Given the description of an element on the screen output the (x, y) to click on. 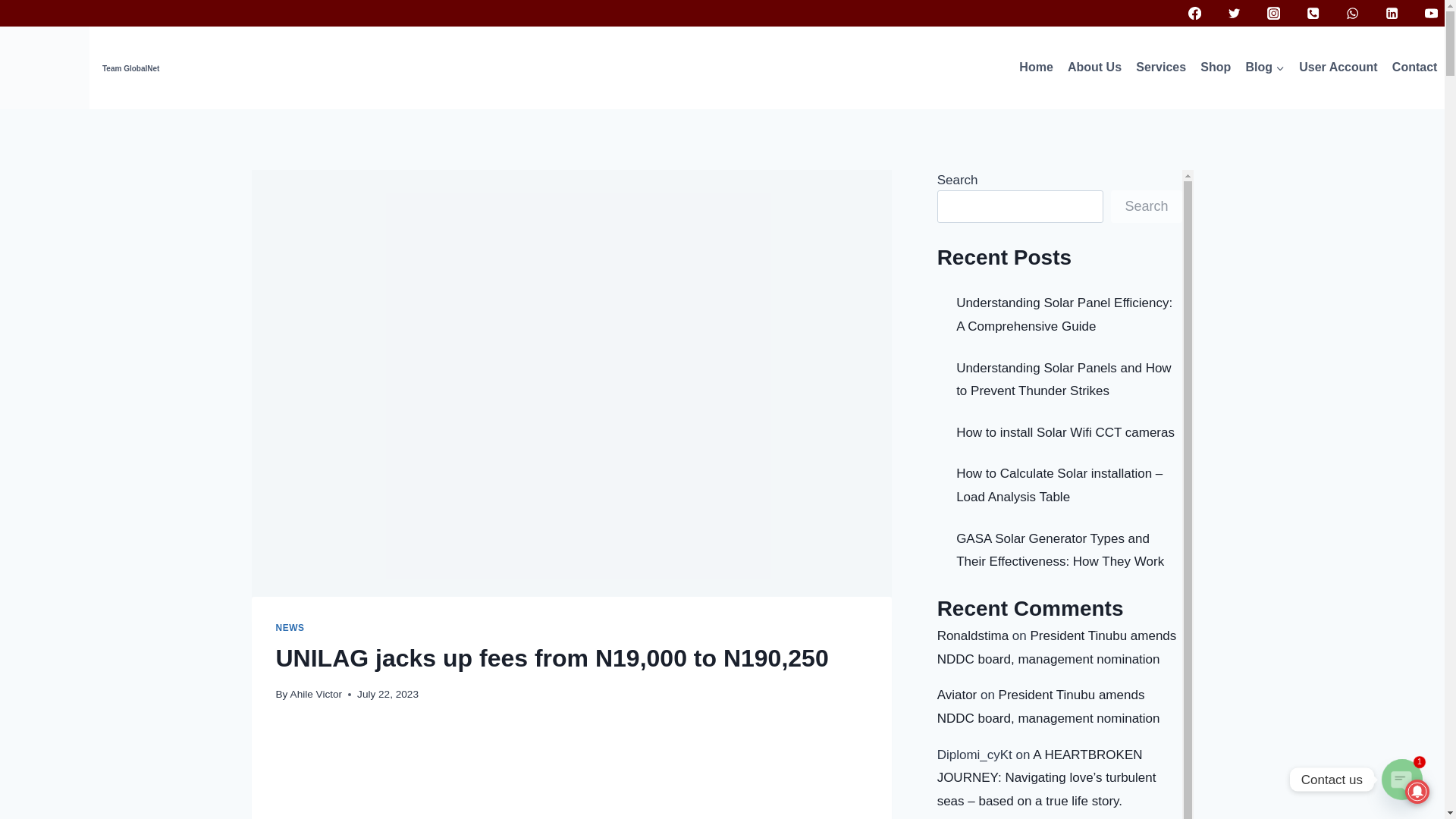
Advertisement (571, 773)
About Us (1093, 67)
NEWS (290, 627)
Services (1161, 67)
User Account (1339, 67)
Blog (1265, 67)
Team GlobalNet (79, 67)
Home (1036, 67)
Shop (1216, 67)
Ahile Victor (315, 694)
